Given the description of an element on the screen output the (x, y) to click on. 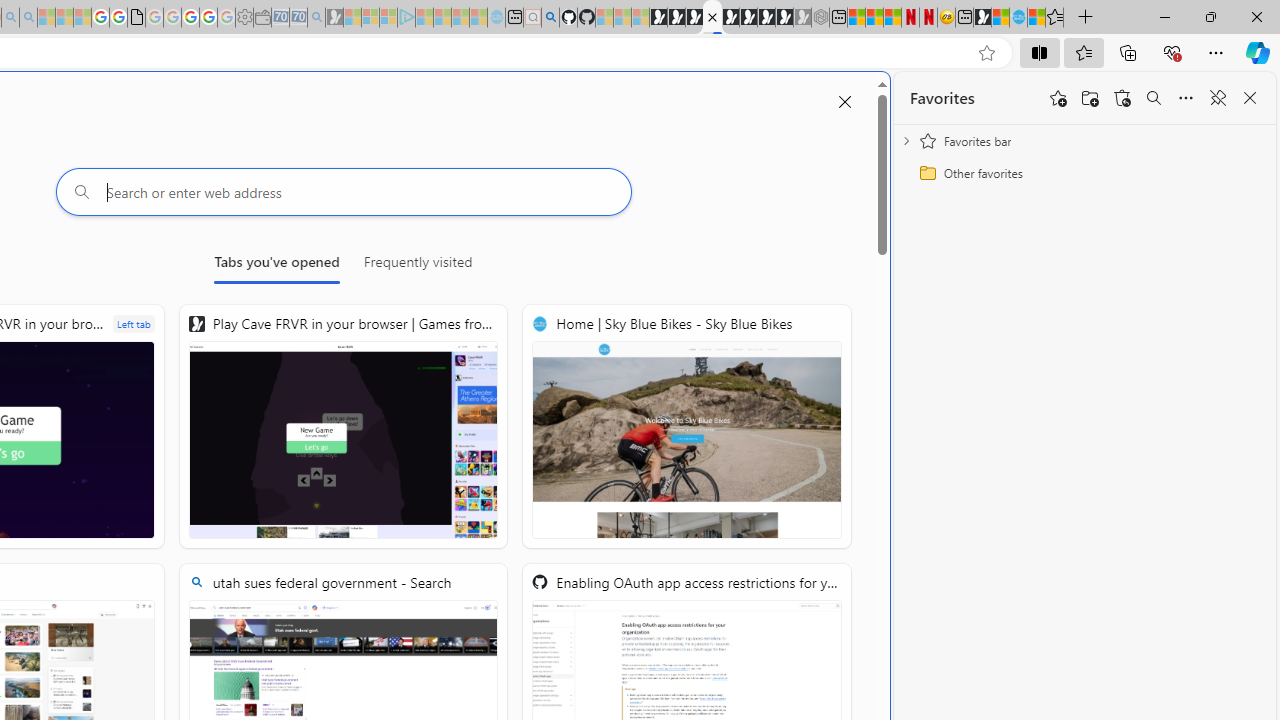
Close favorites (1250, 98)
Add folder (1089, 98)
Frequently visited (418, 265)
github - Search (550, 17)
Wallet - Sleeping (262, 17)
